Given the description of an element on the screen output the (x, y) to click on. 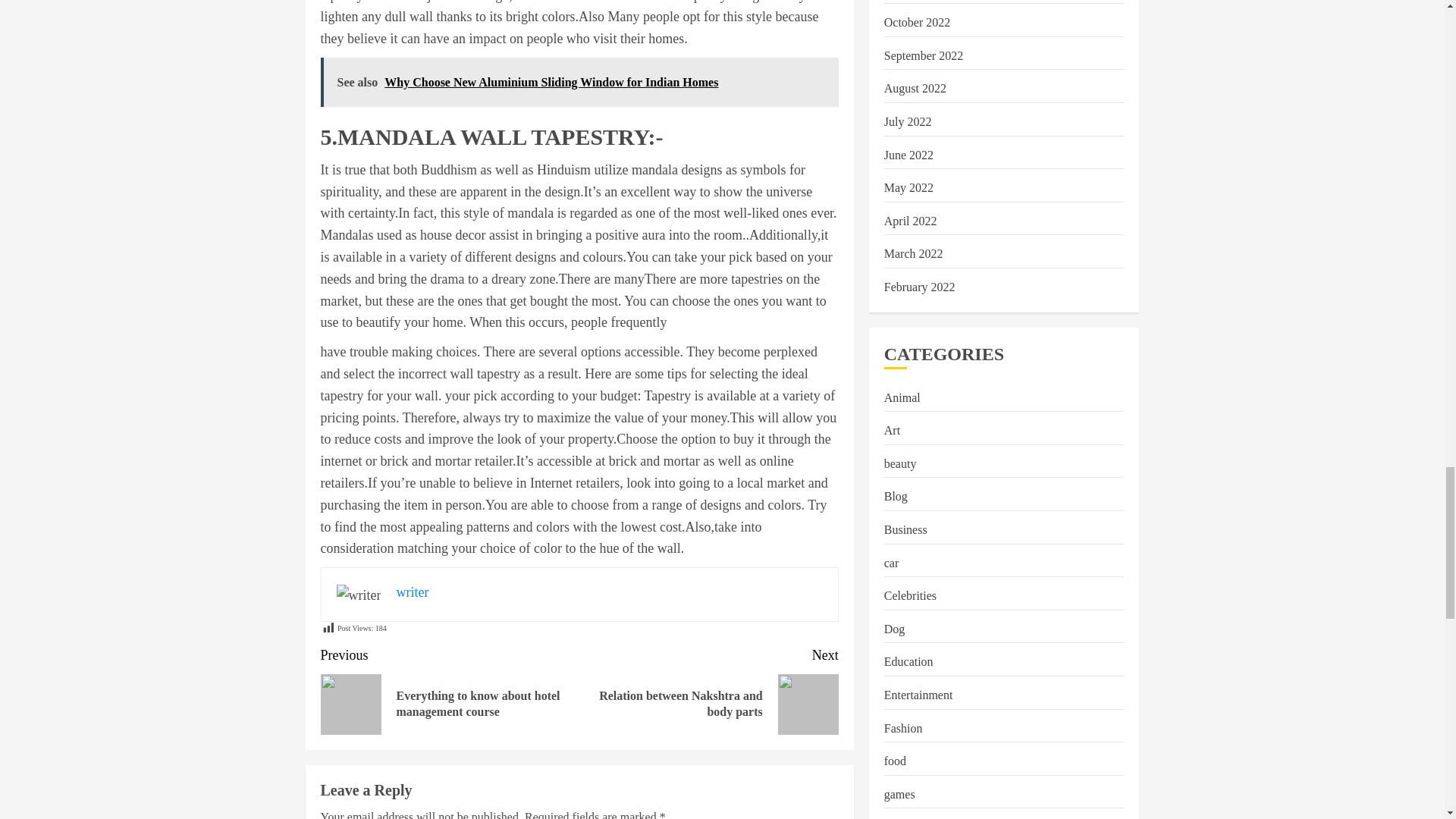
writer (708, 689)
